Given the description of an element on the screen output the (x, y) to click on. 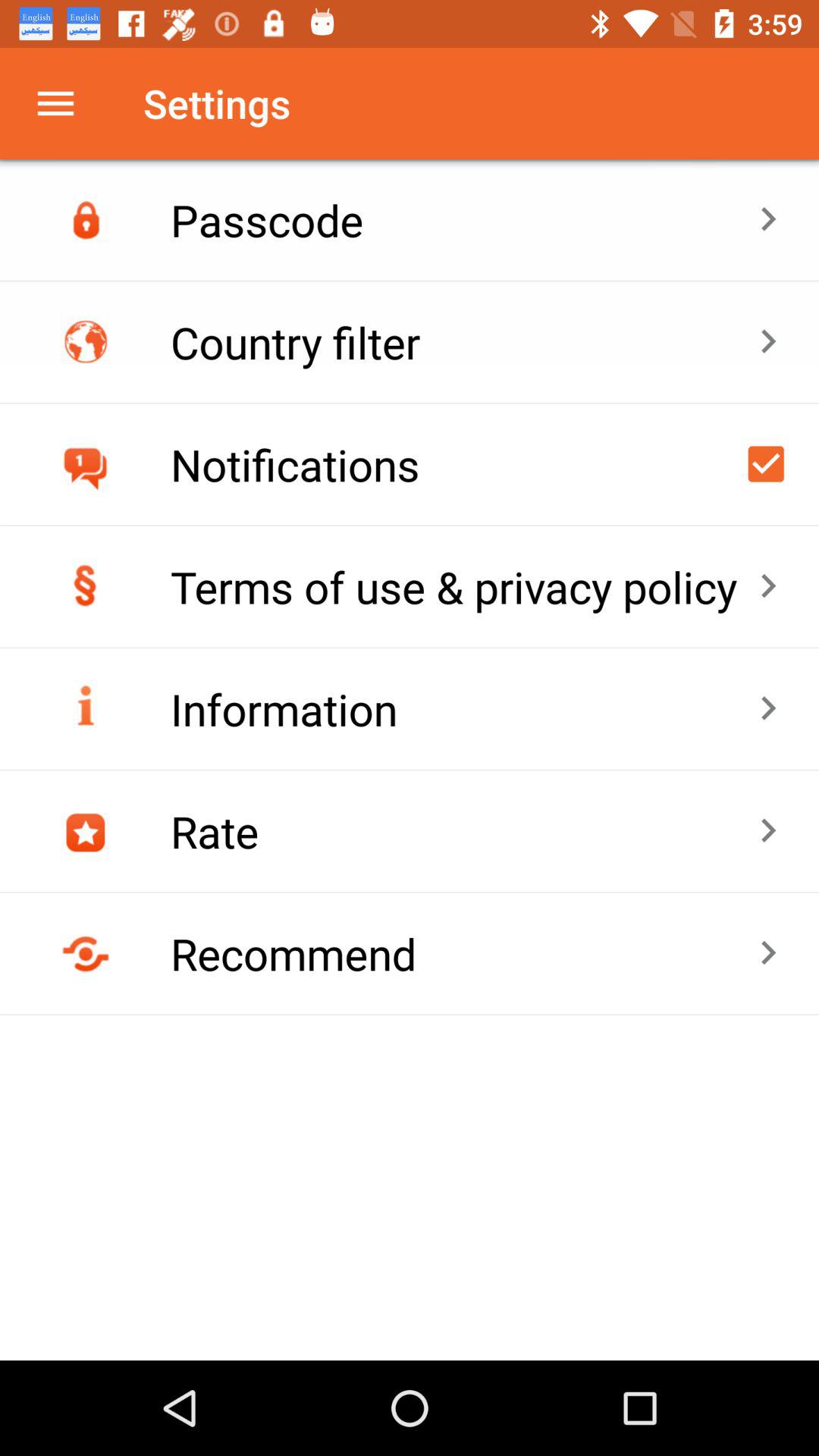
press the icon to the left of the settings icon (55, 103)
